Given the description of an element on the screen output the (x, y) to click on. 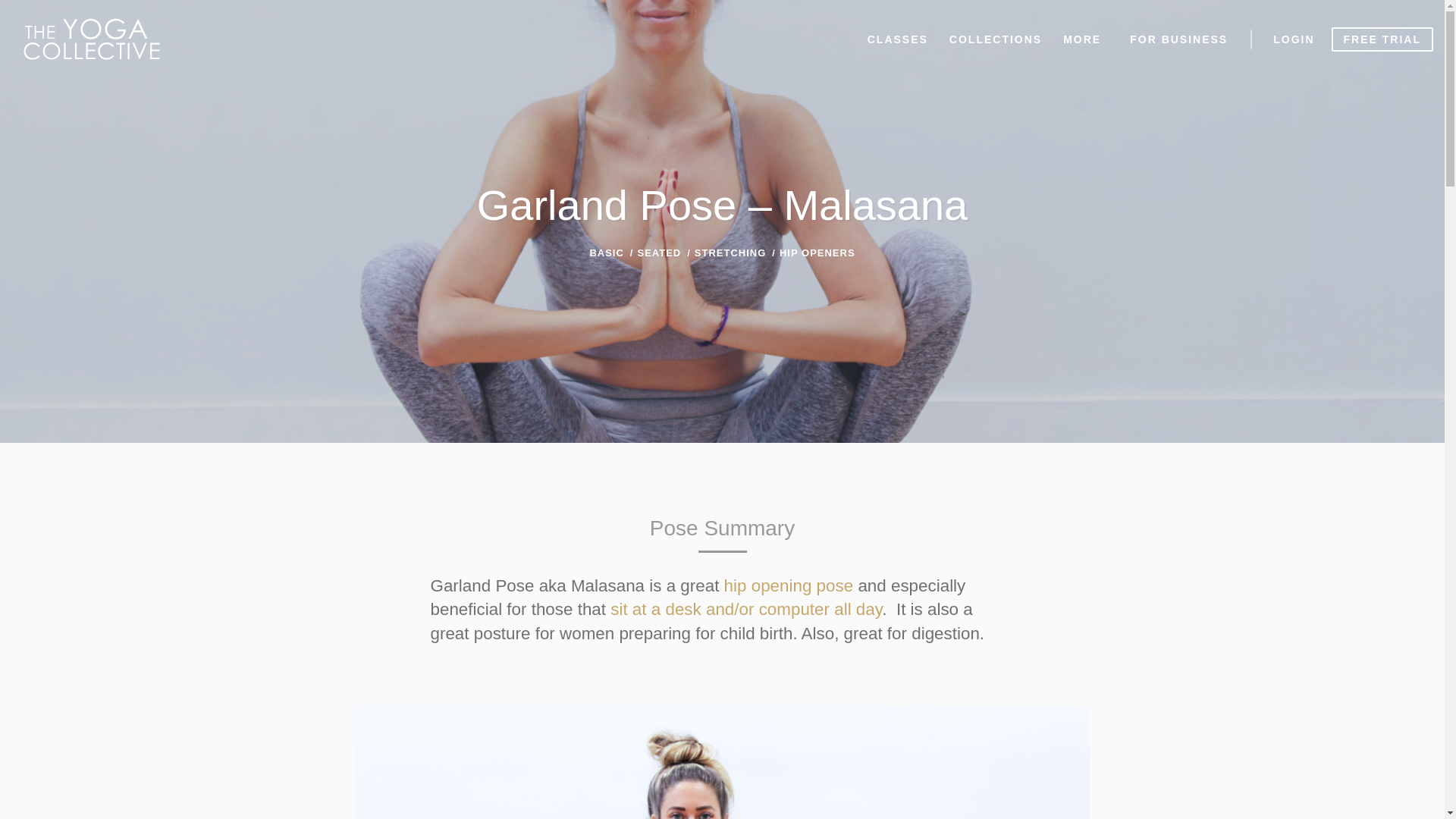
COLLECTIONS (995, 38)
CLASSES (898, 38)
FREE TRIAL (1382, 39)
FOR BUSINESS (1179, 38)
